Given the description of an element on the screen output the (x, y) to click on. 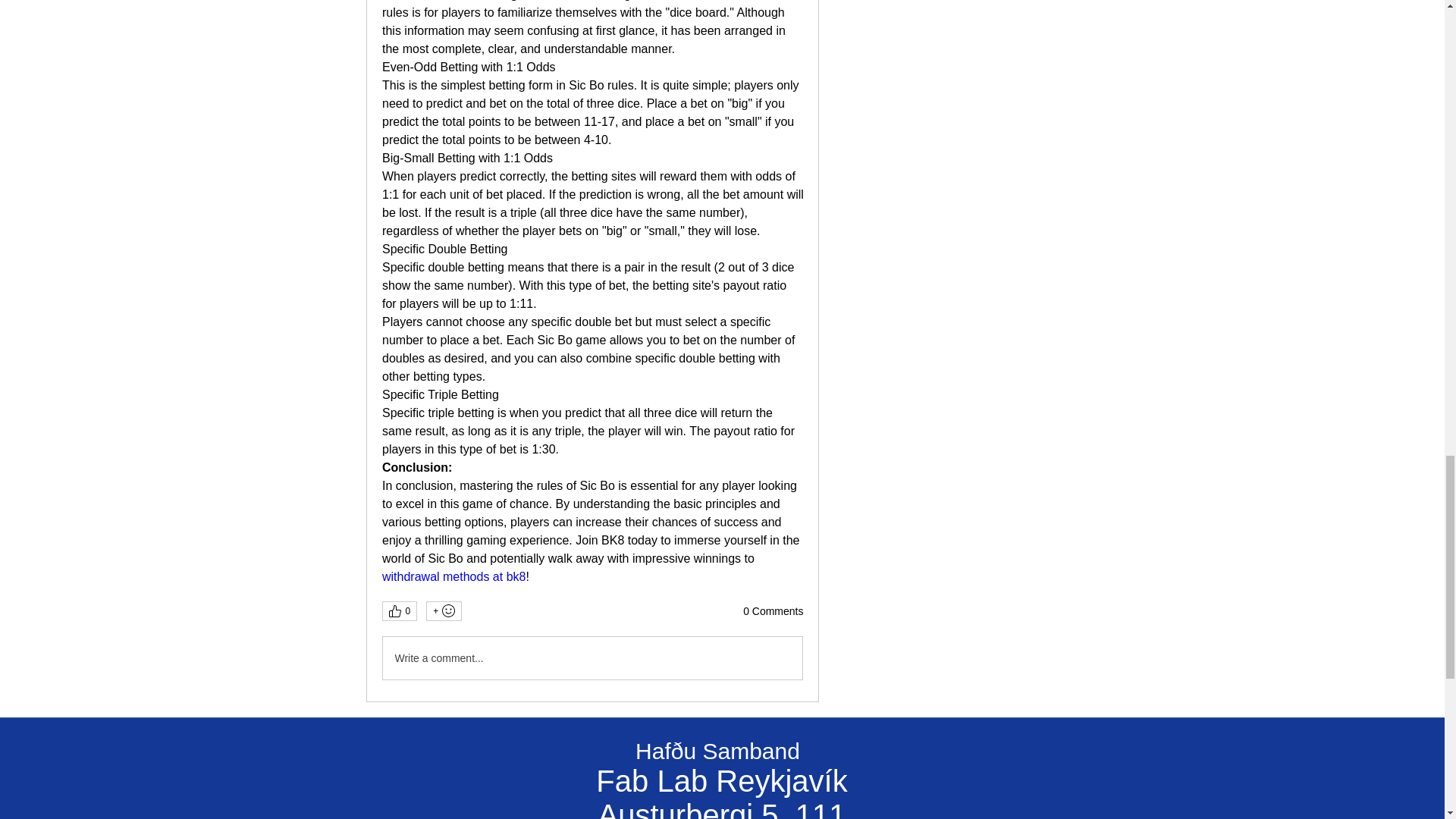
withdrawal methods at bk8 (453, 576)
0 Comments (772, 611)
Write a comment... (591, 658)
